Given the description of an element on the screen output the (x, y) to click on. 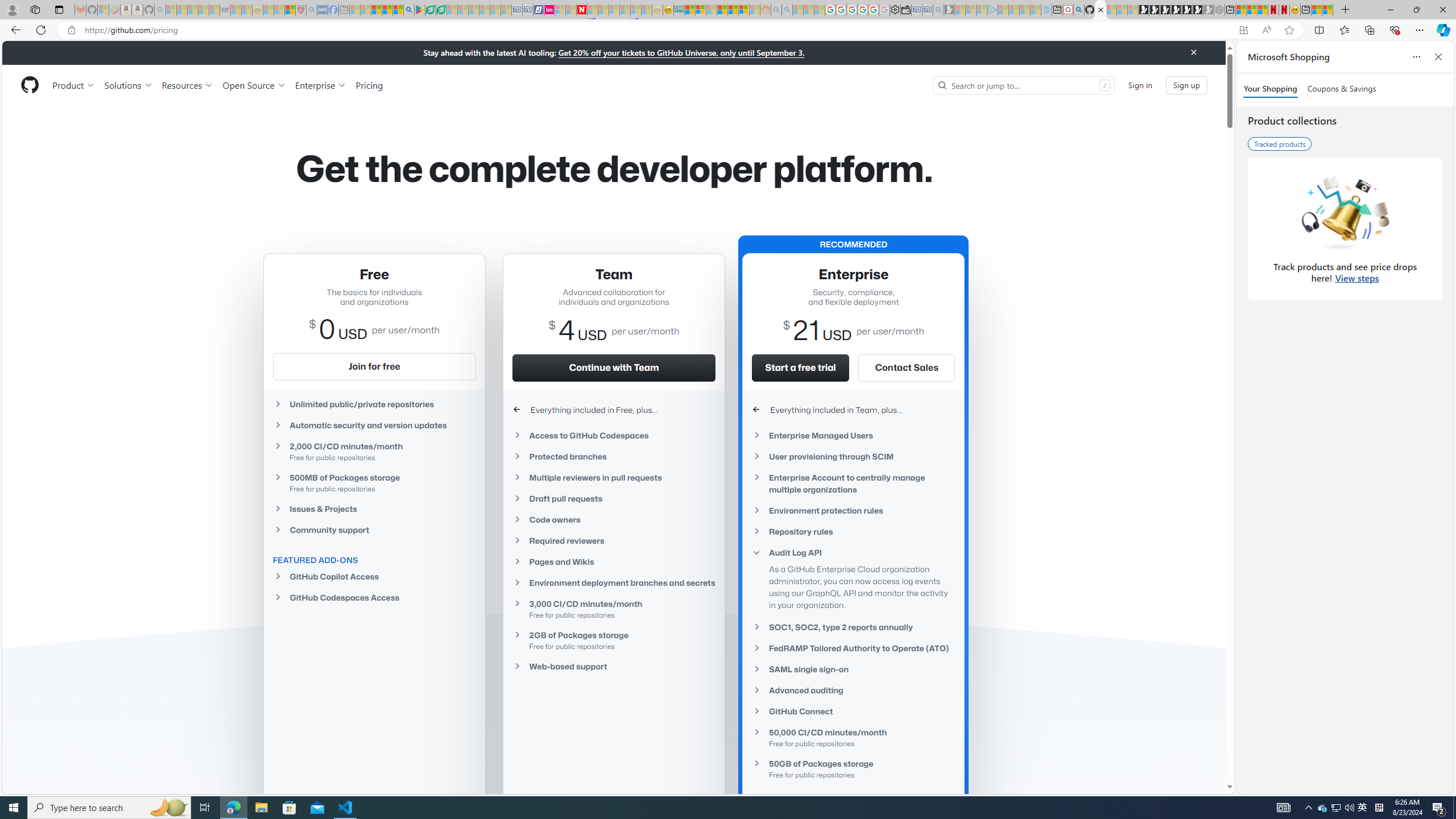
GitHub Copilot Access (374, 576)
Kinda Frugal - MSN (733, 9)
Jobs - lastminute.com Investor Portal (548, 9)
Code owners (614, 519)
Pricing (368, 84)
Product (74, 84)
